Given the description of an element on the screen output the (x, y) to click on. 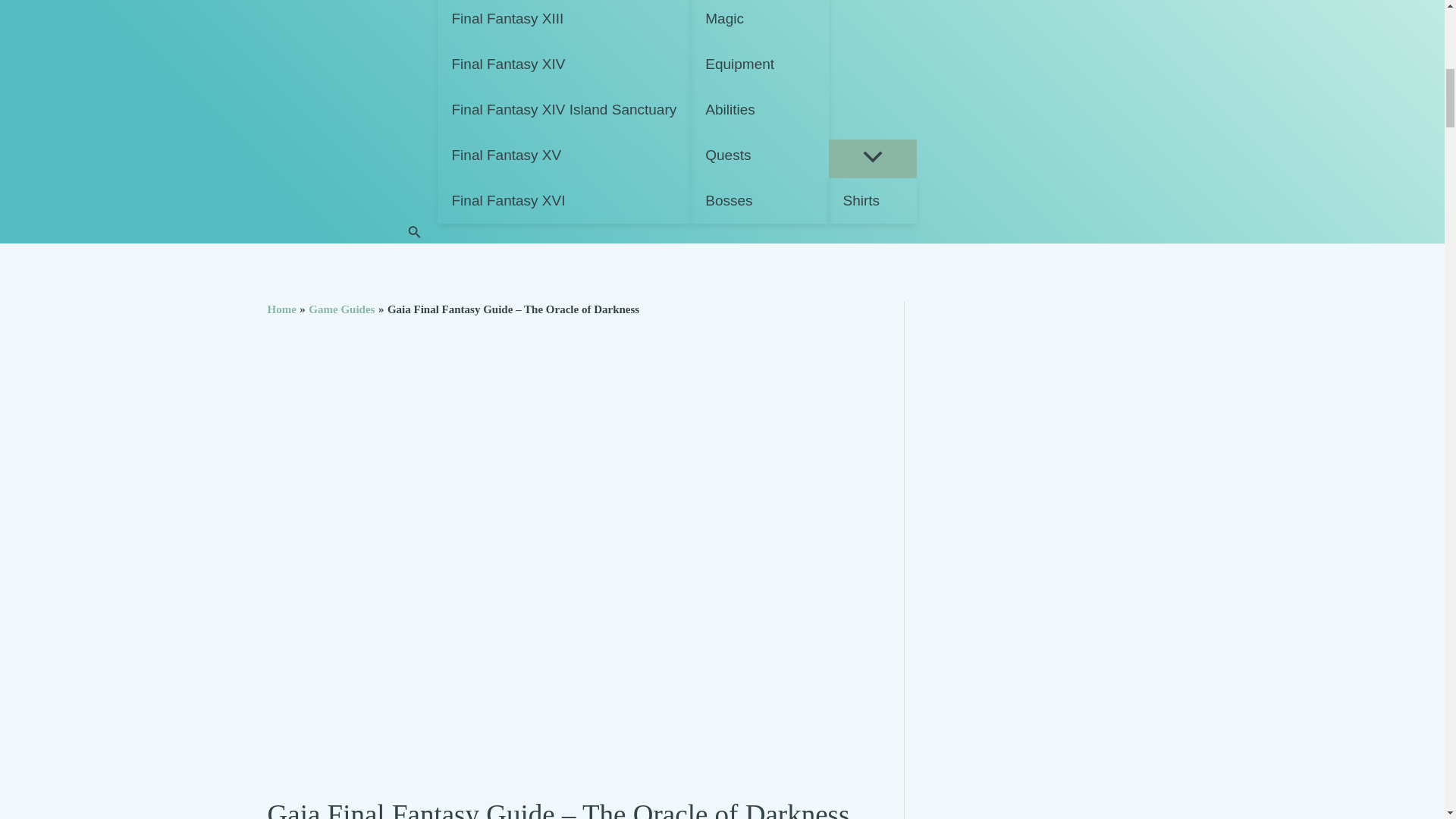
Final Fantasy XIII (563, 20)
Final Fantasy XIV Island Sanctuary (563, 109)
Abilities (759, 109)
Menu Toggle (872, 157)
Equipment (759, 63)
Final Fantasy XV (563, 155)
Terms (951, 111)
Merch (872, 69)
Quests (759, 155)
Final Fantasy XVI (563, 200)
Bosses (759, 200)
About (1018, 111)
Magic (759, 20)
Final Fantasy XIV (563, 63)
Shirts (872, 200)
